Given the description of an element on the screen output the (x, y) to click on. 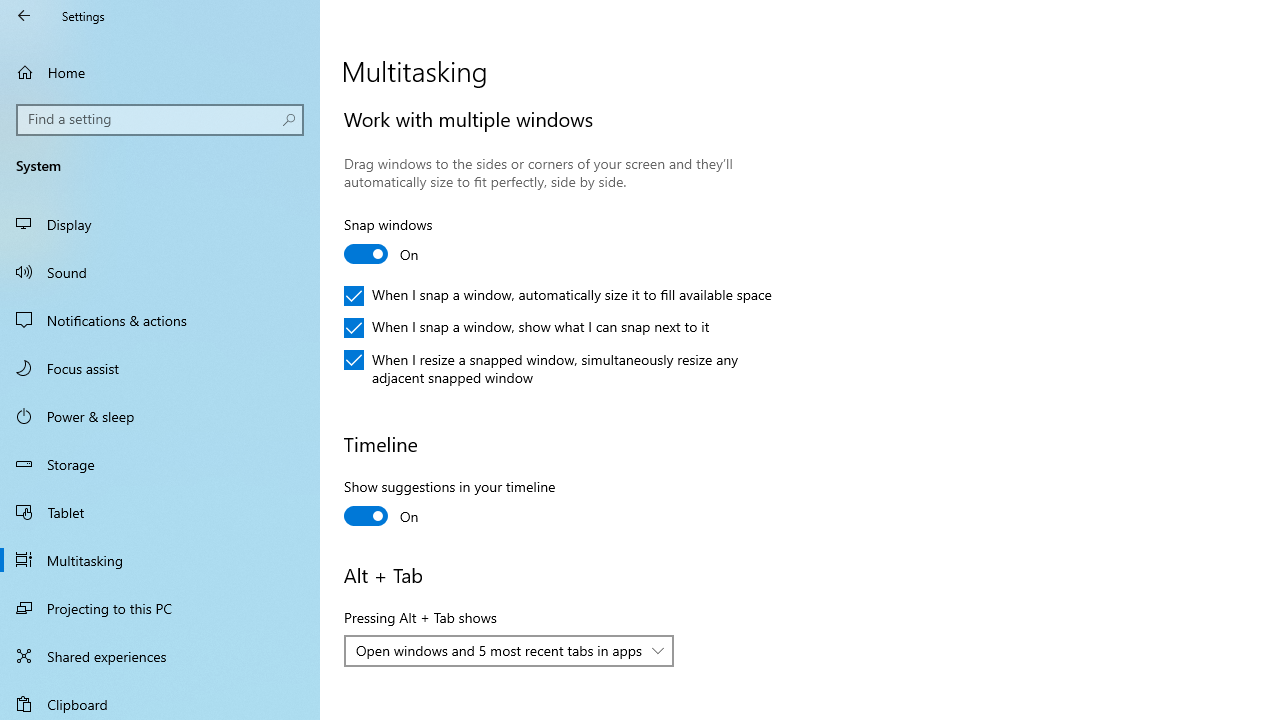
Pressing Alt + Tab shows (509, 650)
Display (160, 223)
When I snap a window, show what I can snap next to it (527, 327)
